Given the description of an element on the screen output the (x, y) to click on. 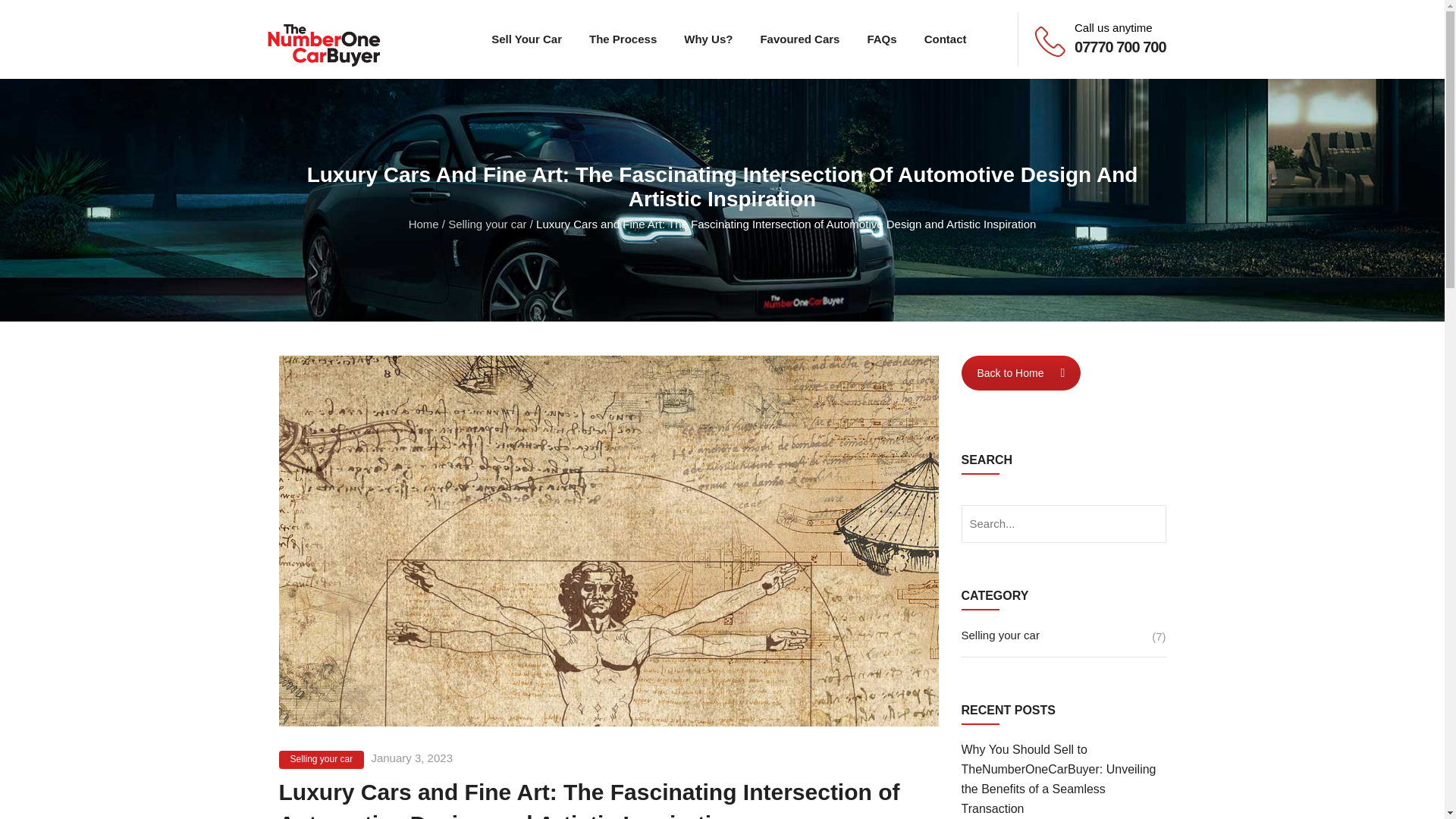
Selling your car (1063, 641)
The Process (622, 39)
Home (424, 223)
Favoured Cars (799, 39)
Sell Your Car (526, 39)
07770 700 700 (1120, 46)
Selling your car (486, 223)
January 3, 2023 (411, 757)
Back to Home (1020, 372)
Selling your car (322, 760)
Why Us? (707, 39)
